Given the description of an element on the screen output the (x, y) to click on. 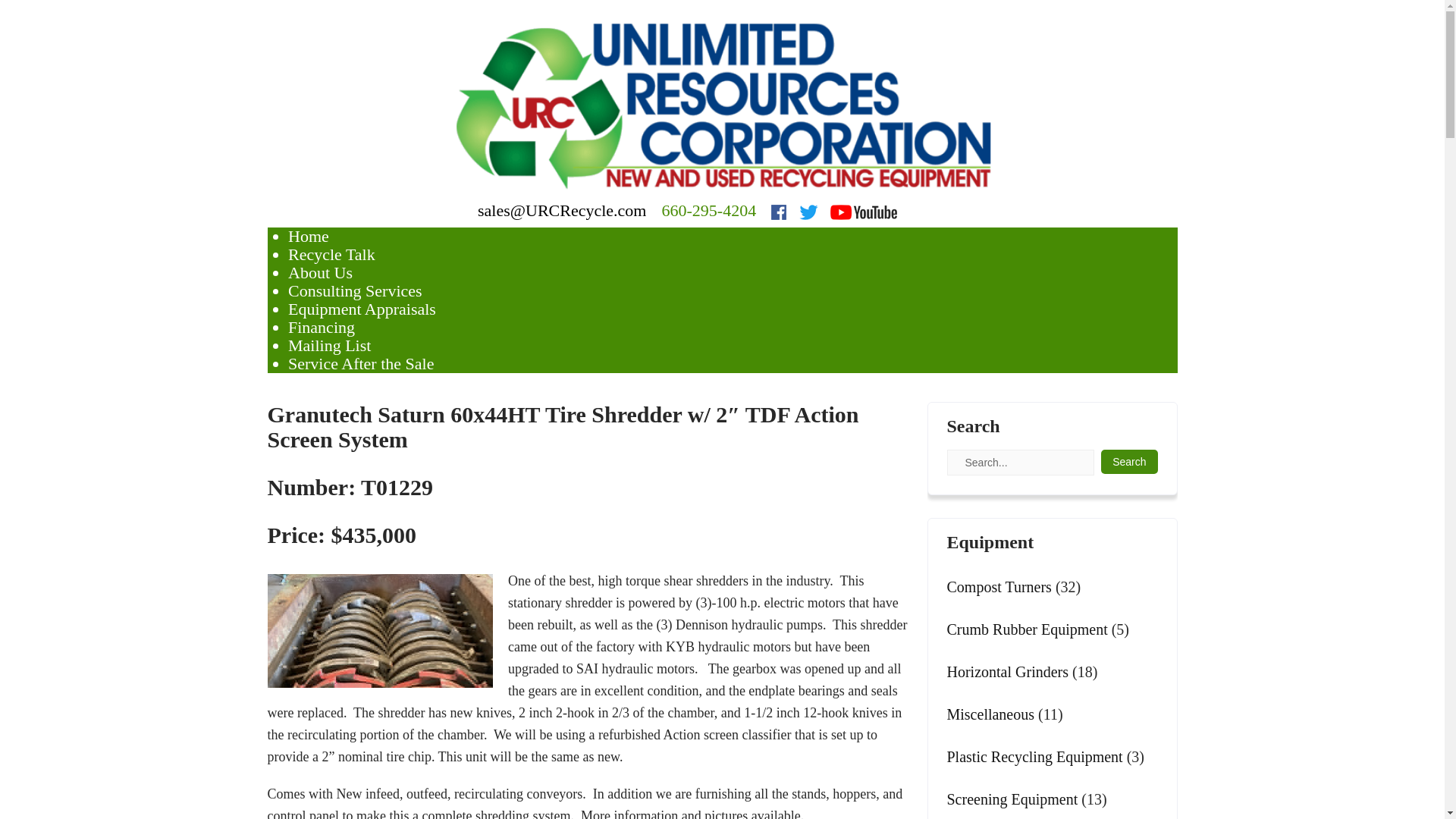
About Us (320, 271)
Service After the Sale (360, 363)
Home (308, 235)
Plastic Recycling Equipment (1034, 756)
Equipment Appraisals (361, 308)
Screening Equipment (1011, 799)
Search (1128, 461)
Miscellaneous (989, 713)
Compost Turners (998, 587)
